Given the description of an element on the screen output the (x, y) to click on. 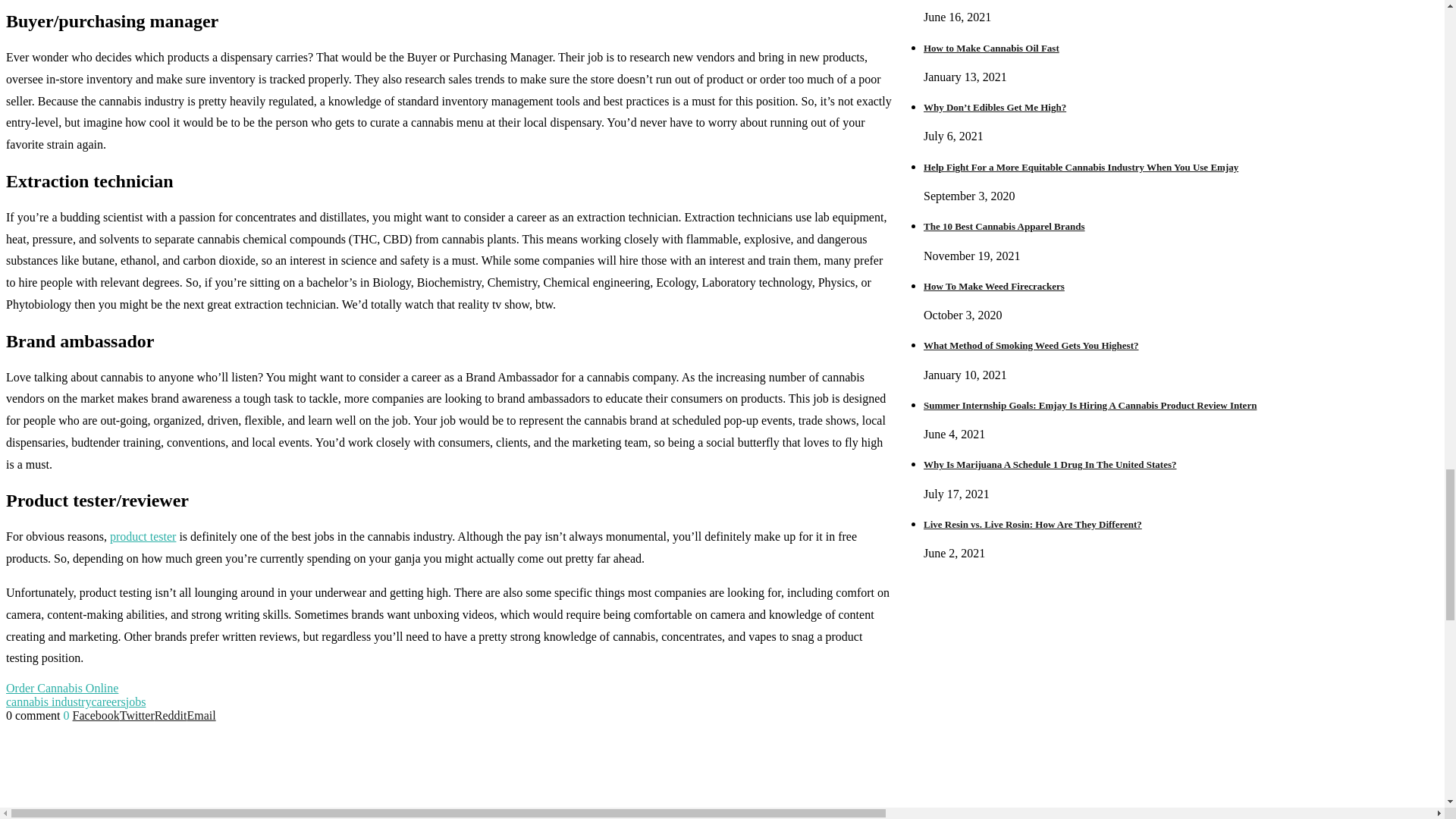
Reddit (170, 715)
jobs (136, 701)
careers (107, 701)
product tester (143, 535)
Twitter (136, 715)
cannabis industry (47, 701)
Email (200, 715)
Facebook (95, 715)
Order Cannabis Online (61, 687)
